Given the description of an element on the screen output the (x, y) to click on. 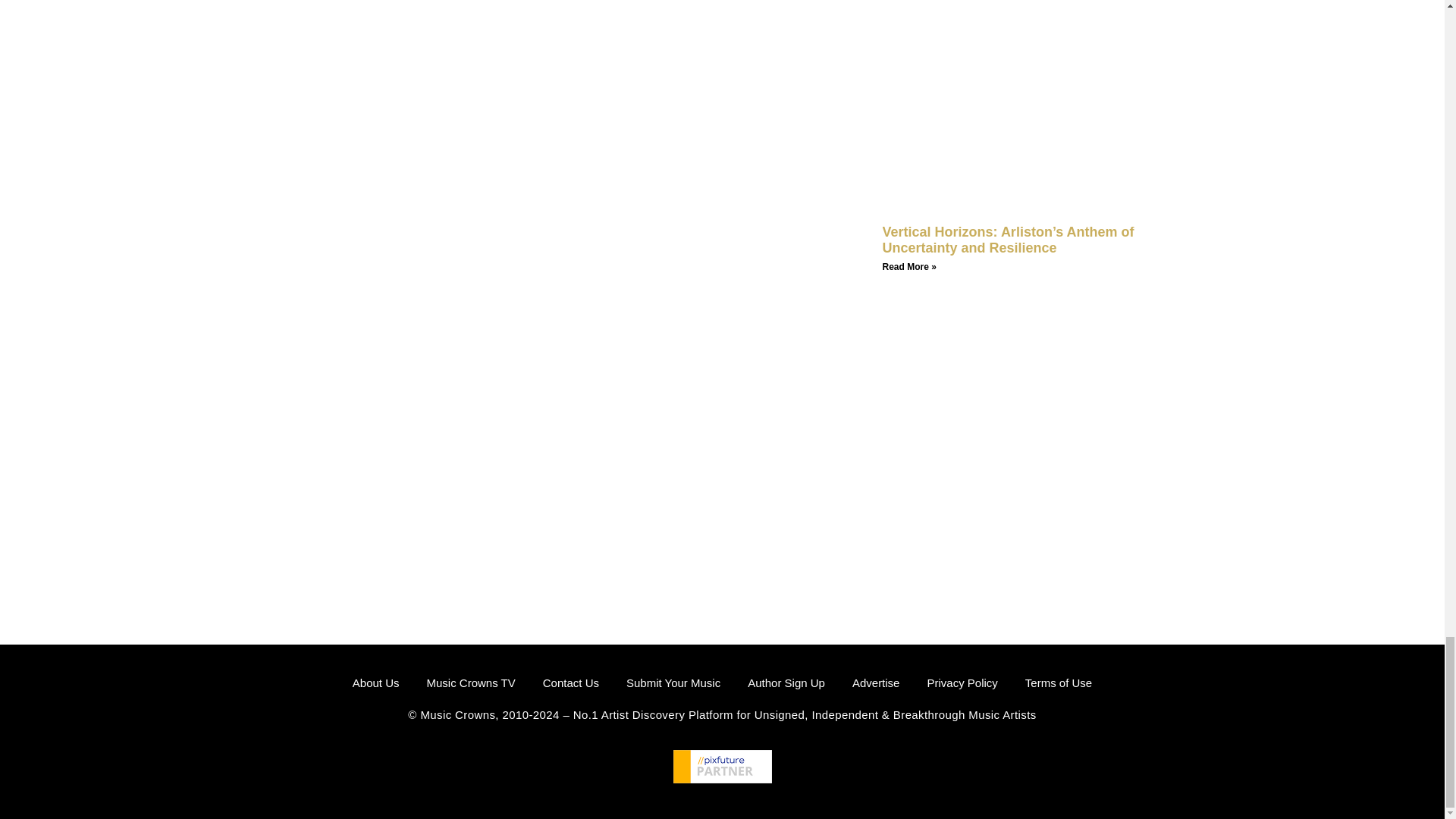
Submit Your Music (673, 683)
Terms of Use (1058, 683)
Advertise (875, 683)
Contact Us (570, 683)
Music Crowns TV (470, 683)
Privacy Policy (961, 683)
About Us (375, 683)
Author Sign Up (786, 683)
